Given the description of an element on the screen output the (x, y) to click on. 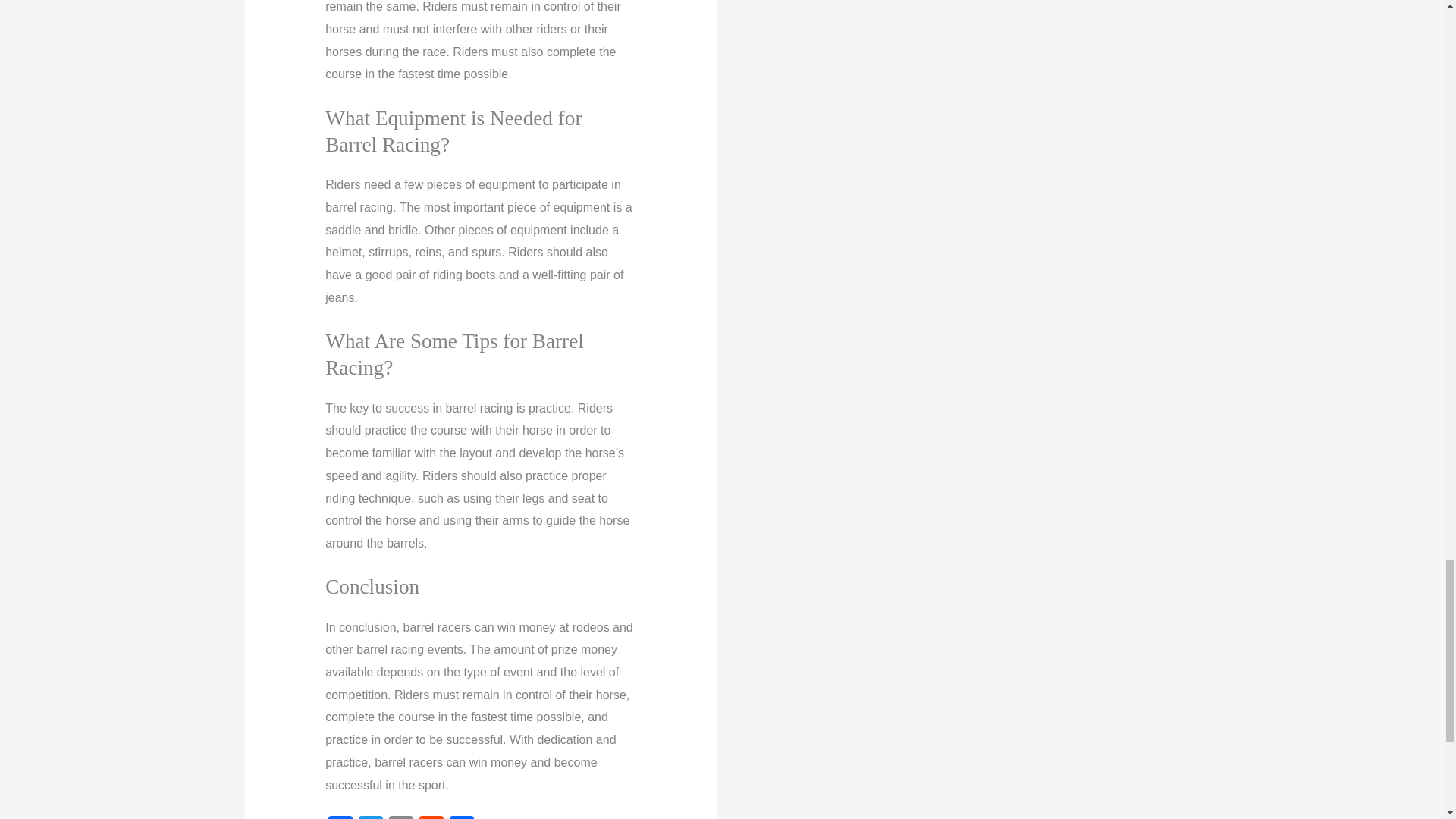
Twitter (370, 817)
Facebook (339, 817)
Email (400, 817)
Email (400, 817)
Reddit (431, 817)
Facebook (339, 817)
Reddit (431, 817)
Twitter (370, 817)
